Given the description of an element on the screen output the (x, y) to click on. 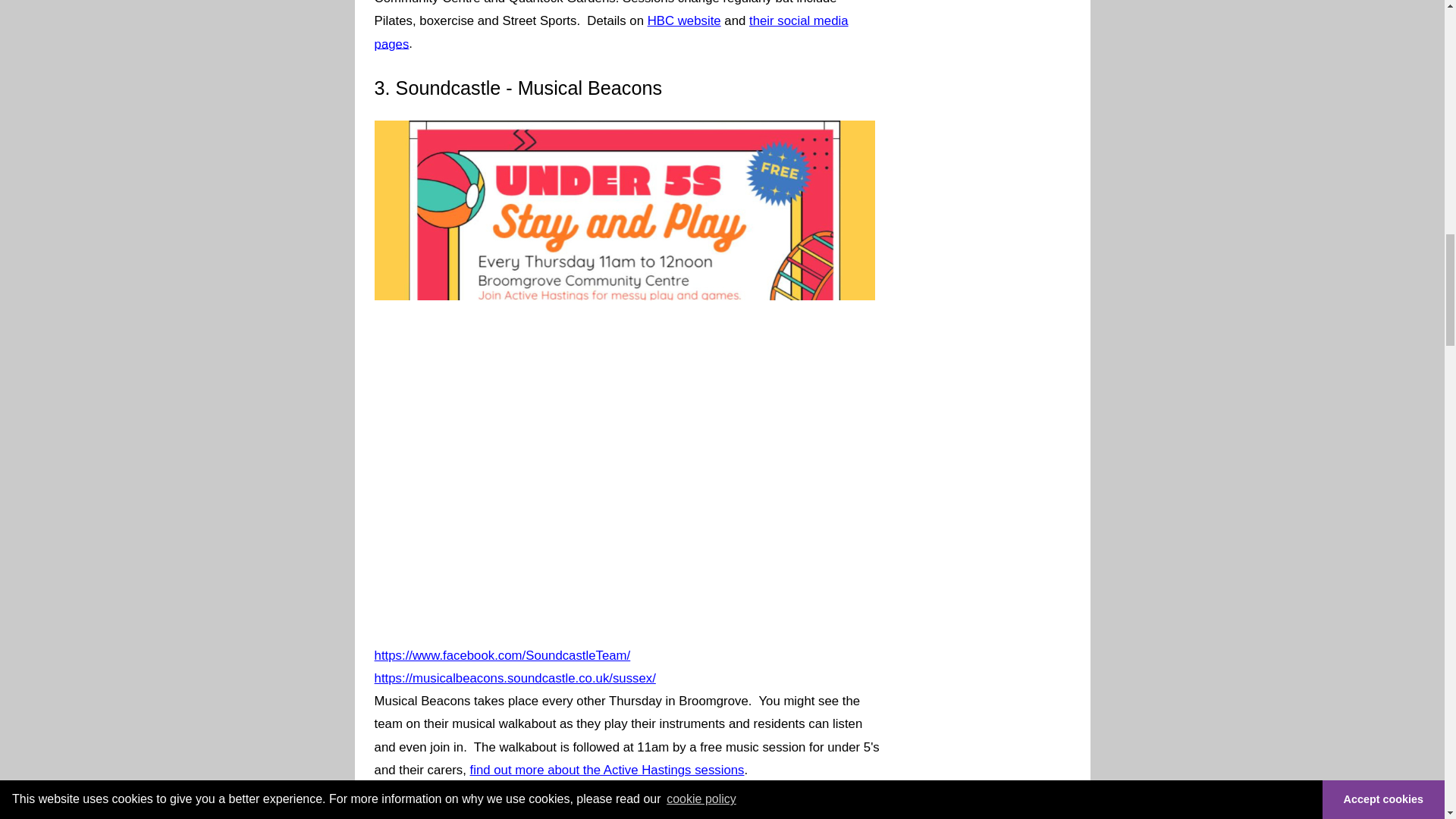
Sport and play (683, 20)
find out more about the Active Hastings sessions (607, 770)
External link to the Musical Beacons Soundcastle website (515, 678)
External link to the Soundcastle Facebook page (502, 655)
Active Hastings Facebook (611, 31)
their social media pages (611, 31)
HBC website (683, 20)
